Given the description of an element on the screen output the (x, y) to click on. 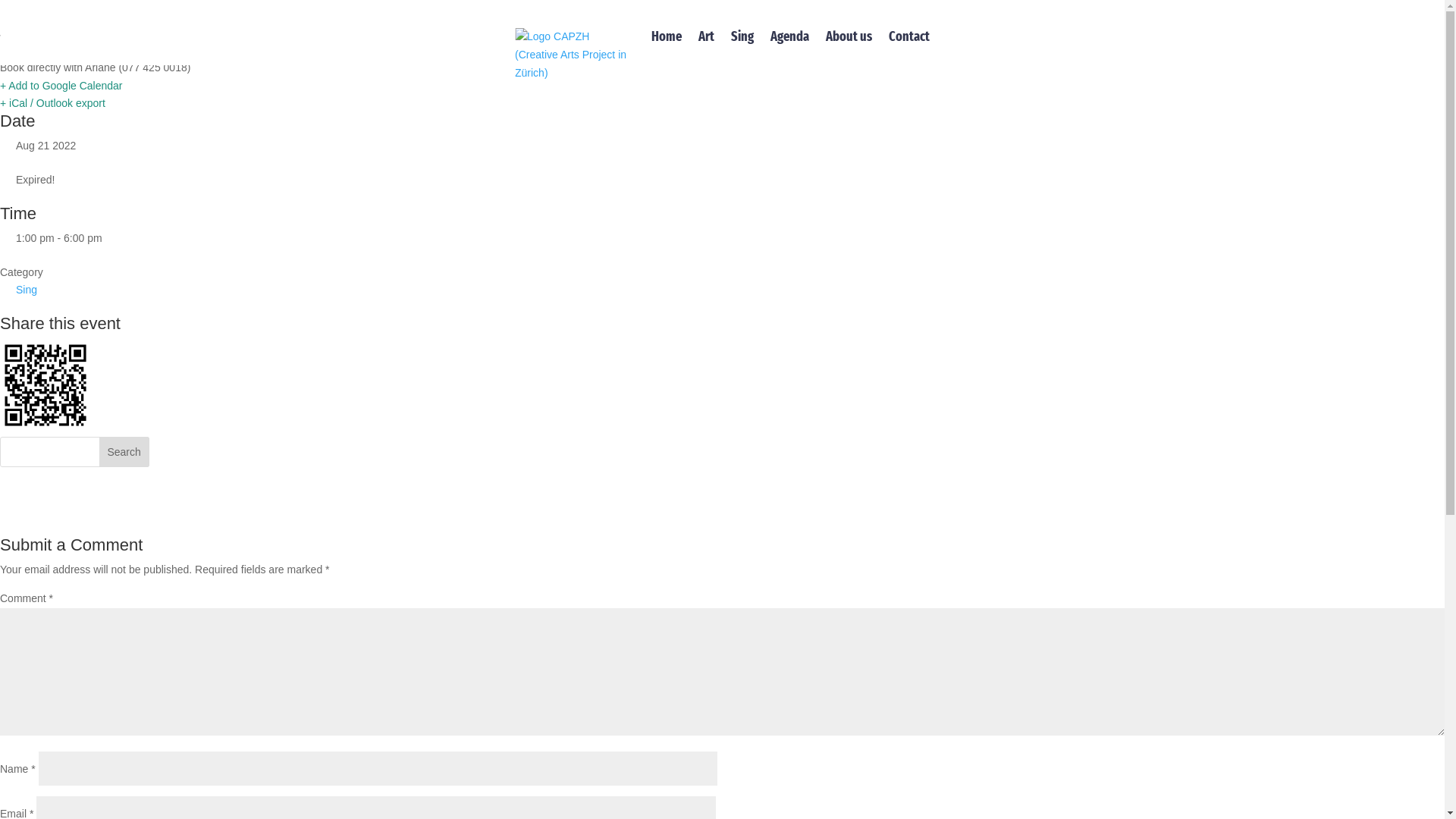
Sing Element type: text (26, 289)
Contact Element type: text (908, 36)
About us Element type: text (848, 36)
Art Element type: text (706, 36)
+ Add to Google Calendar Element type: text (61, 85)
+ iCal / Outlook export Element type: text (52, 103)
Agenda Element type: text (789, 36)
Search Element type: text (124, 451)
Home Element type: text (666, 36)
Sing Element type: text (742, 36)
